Given the description of an element on the screen output the (x, y) to click on. 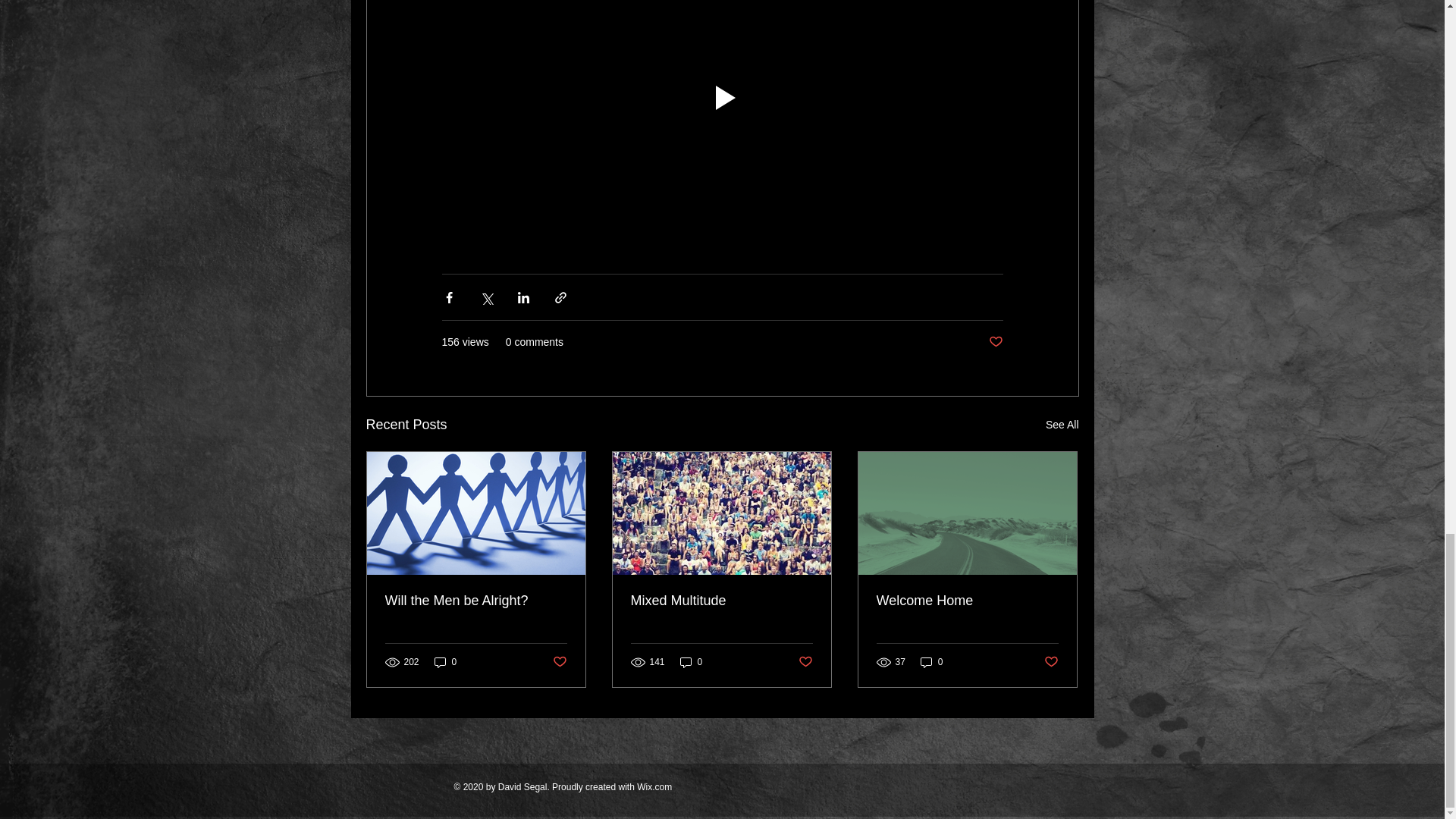
Wix.com (654, 787)
Post not marked as liked (558, 662)
0 (691, 662)
Post not marked as liked (1050, 662)
Welcome Home (967, 600)
0 (931, 662)
Post not marked as liked (804, 662)
0 (445, 662)
Post not marked as liked (995, 342)
Mixed Multitude (721, 600)
